Given the description of an element on the screen output the (x, y) to click on. 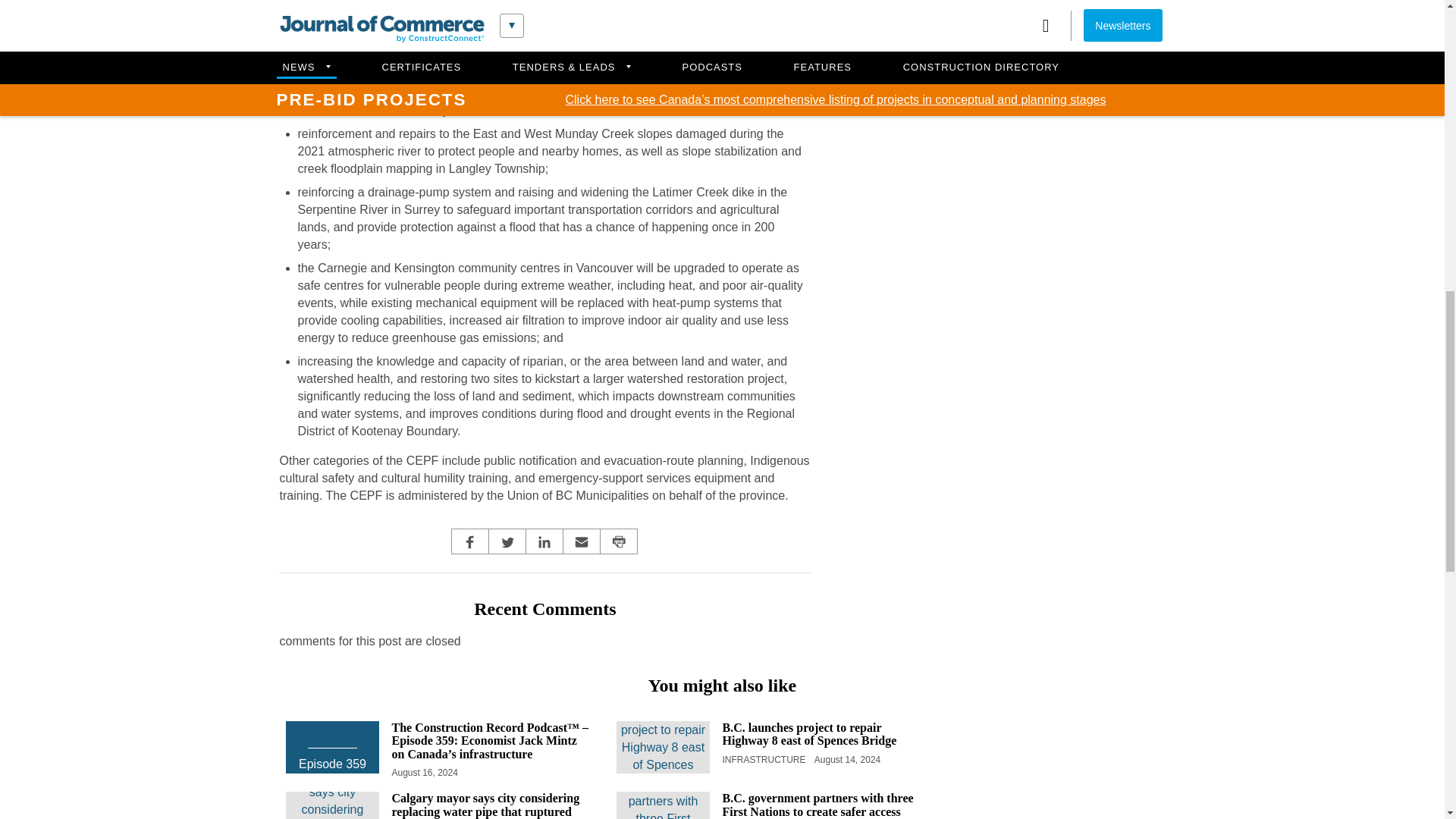
Twitter (506, 541)
LinkedIn (544, 541)
Facebook (470, 541)
Print (619, 541)
Email (581, 541)
